Given the description of an element on the screen output the (x, y) to click on. 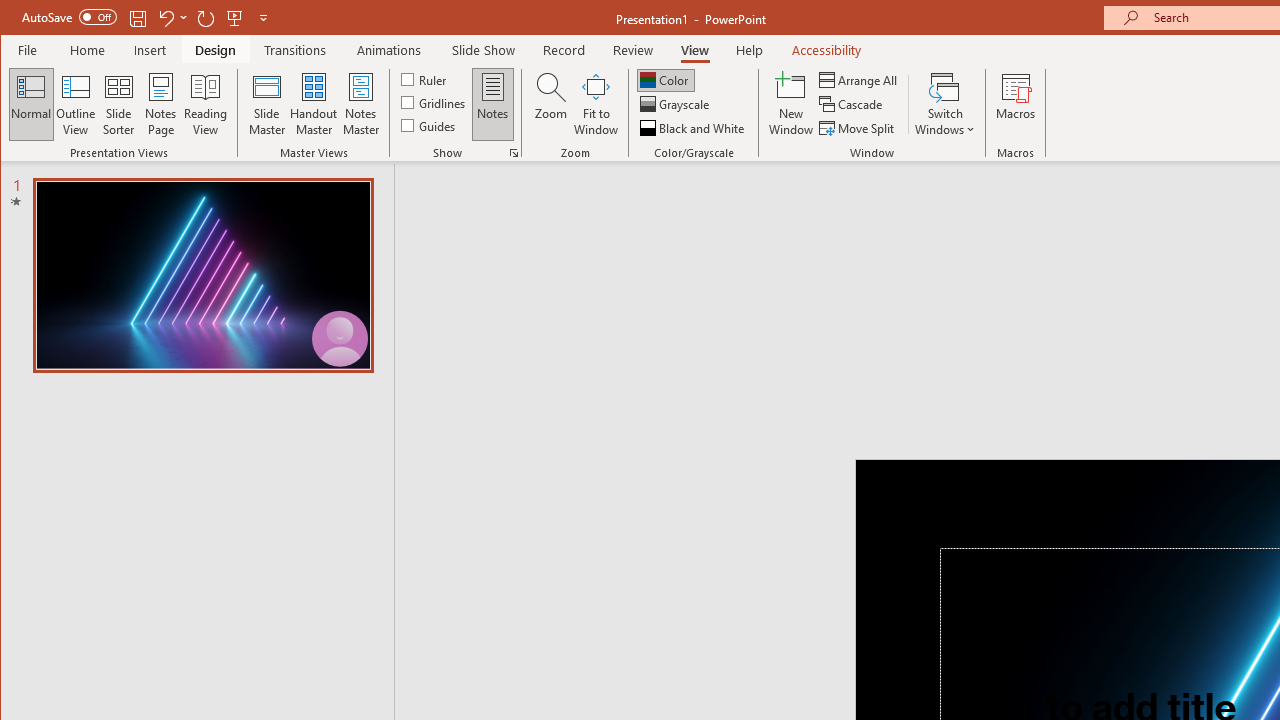
New Window (791, 104)
Outline View (75, 104)
Guides (430, 124)
Move Split (858, 127)
Gridlines (435, 101)
Arrange All (859, 80)
Black and White (694, 127)
Notes Page (160, 104)
Grayscale (676, 103)
